Given the description of an element on the screen output the (x, y) to click on. 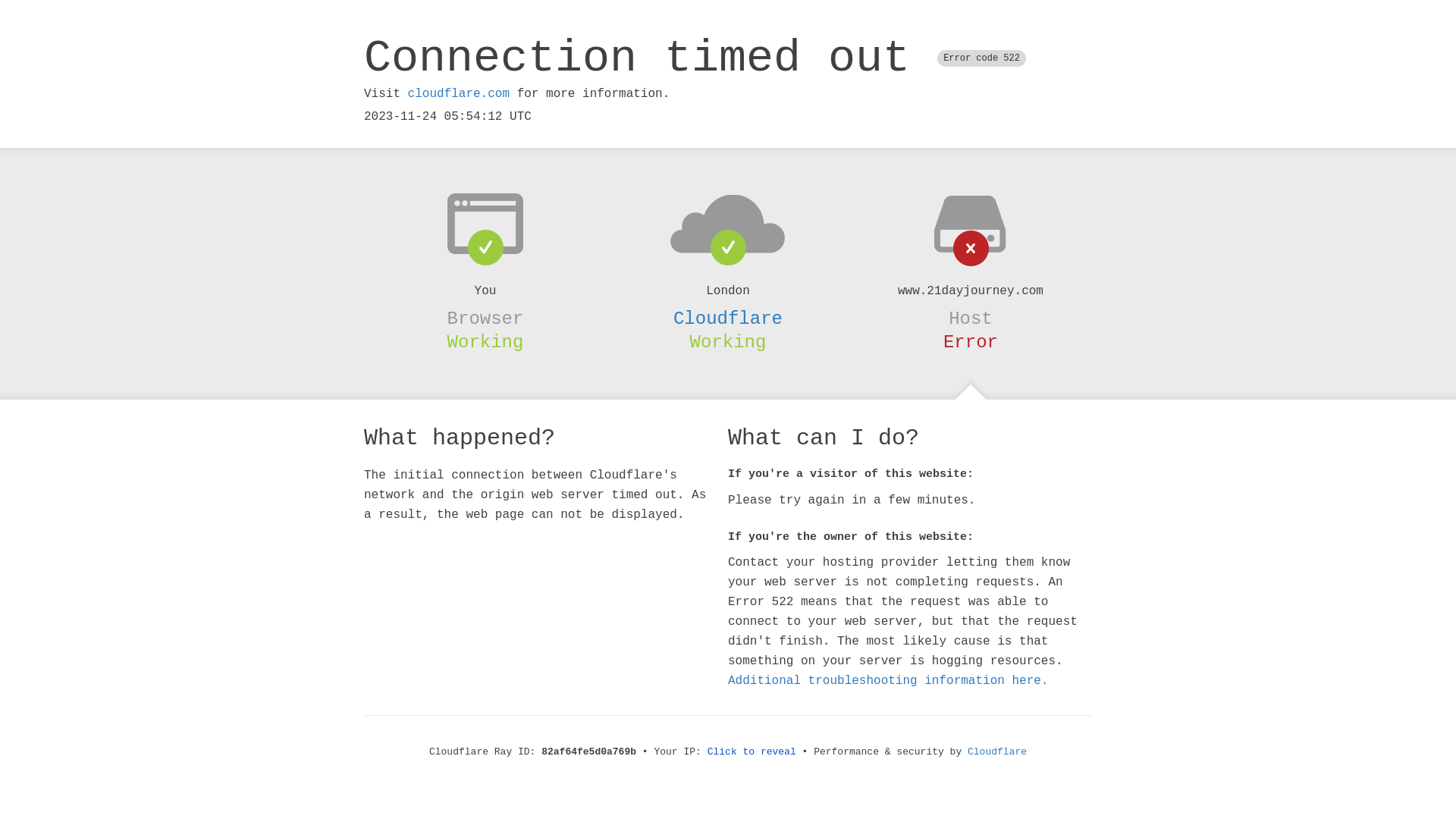
cloudflare.com Element type: text (458, 93)
Cloudflare Element type: text (996, 751)
Additional troubleshooting information here. Element type: text (888, 680)
Click to reveal Element type: text (751, 751)
Cloudflare Element type: text (727, 318)
